Given the description of an element on the screen output the (x, y) to click on. 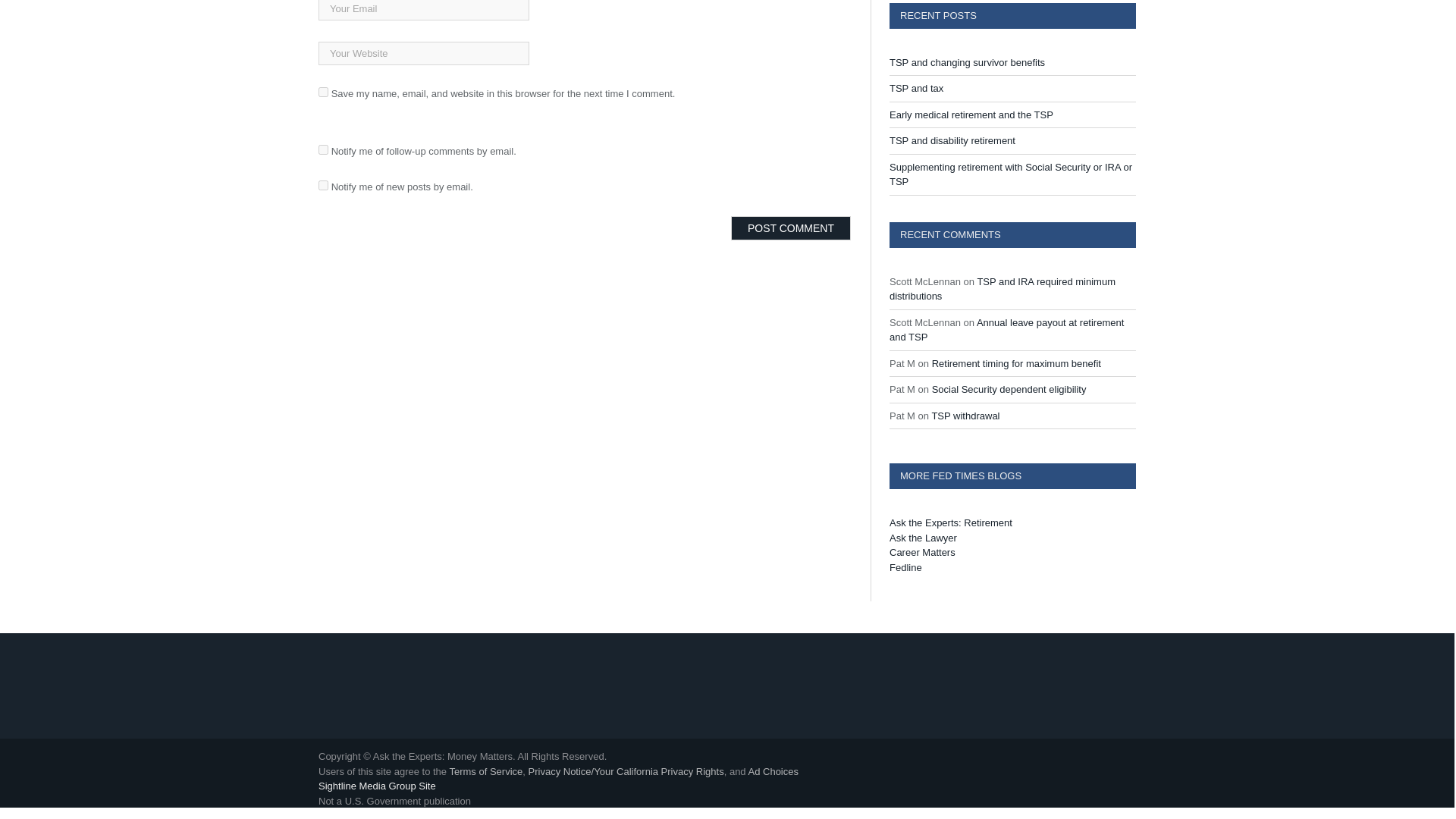
subscribe (323, 149)
Post Comment (790, 228)
yes (323, 91)
subscribe (323, 185)
